Given the description of an element on the screen output the (x, y) to click on. 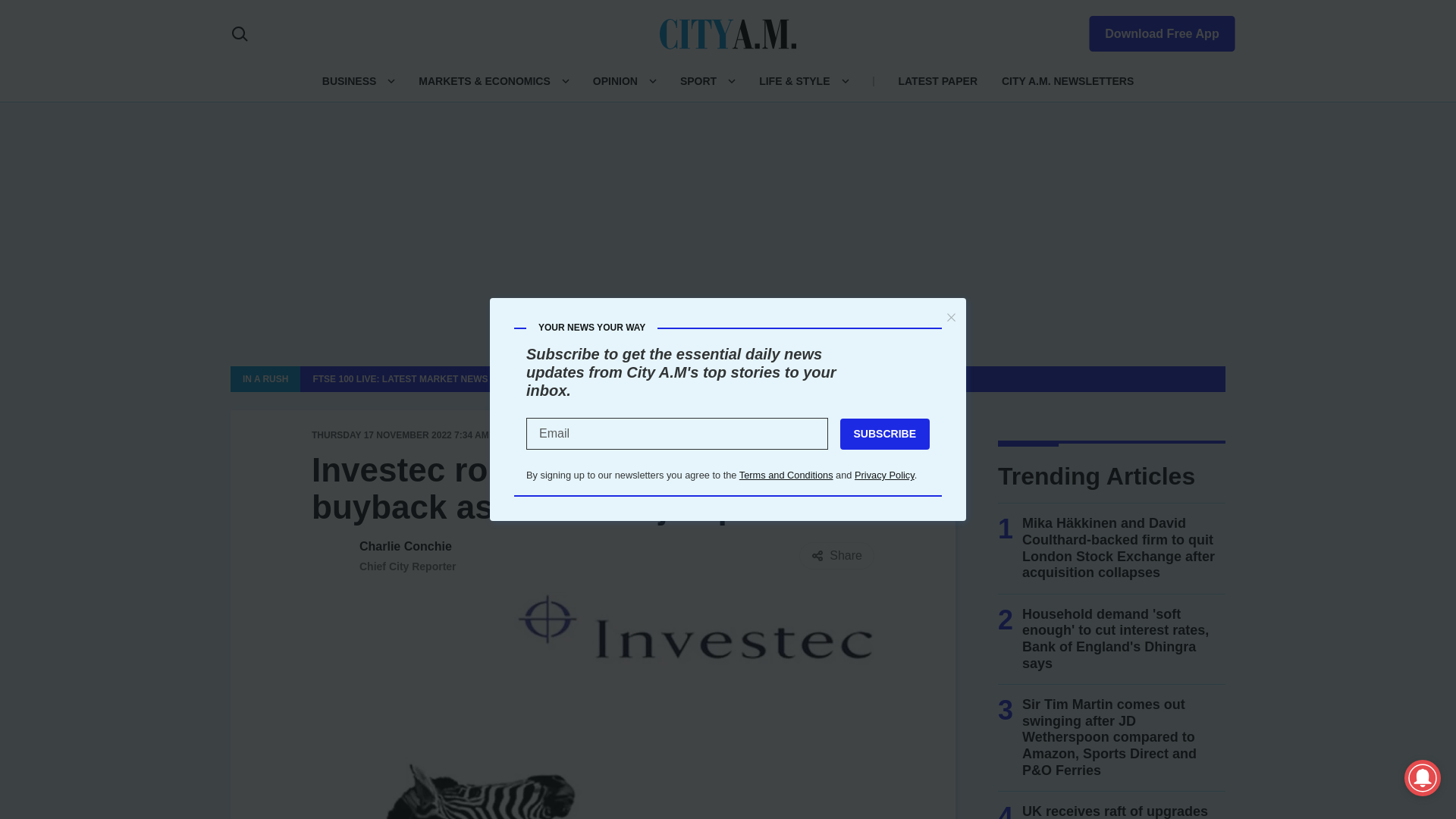
CityAM (727, 33)
BUSINESS (349, 80)
Download Free App (1152, 30)
